Given the description of an element on the screen output the (x, y) to click on. 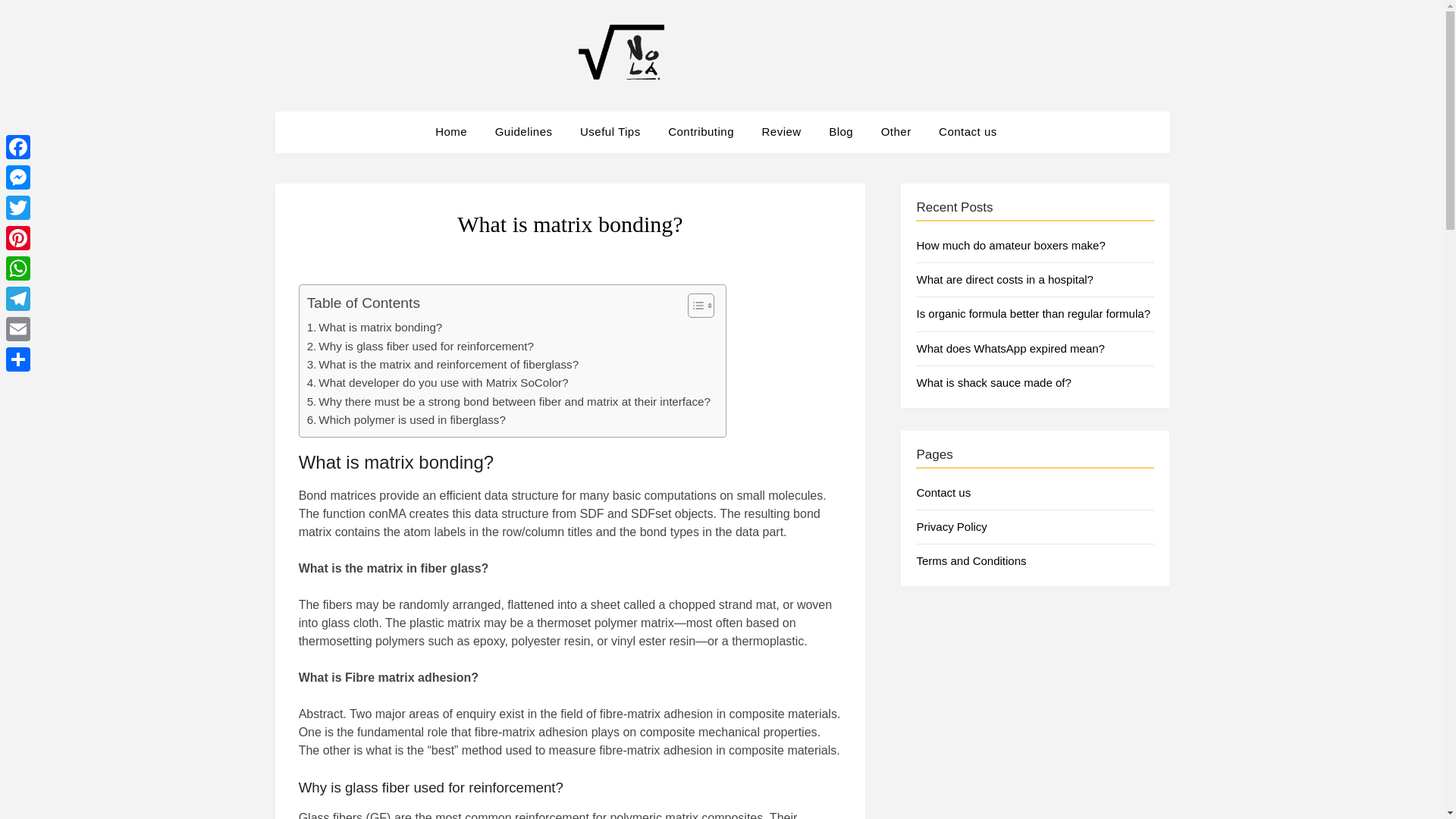
Other (896, 131)
What does WhatsApp expired mean? (1009, 348)
Facebook (17, 146)
What is matrix bonding? (374, 327)
Contact us (967, 131)
Privacy Policy (951, 526)
Why is glass fiber used for reinforcement? (420, 346)
Useful Tips (609, 131)
Pinterest (17, 237)
What is the matrix and reinforcement of fiberglass? (442, 364)
What is matrix bonding? (374, 327)
Review (780, 131)
Why is glass fiber used for reinforcement? (420, 346)
Twitter (17, 207)
Contact us (943, 492)
